Given the description of an element on the screen output the (x, y) to click on. 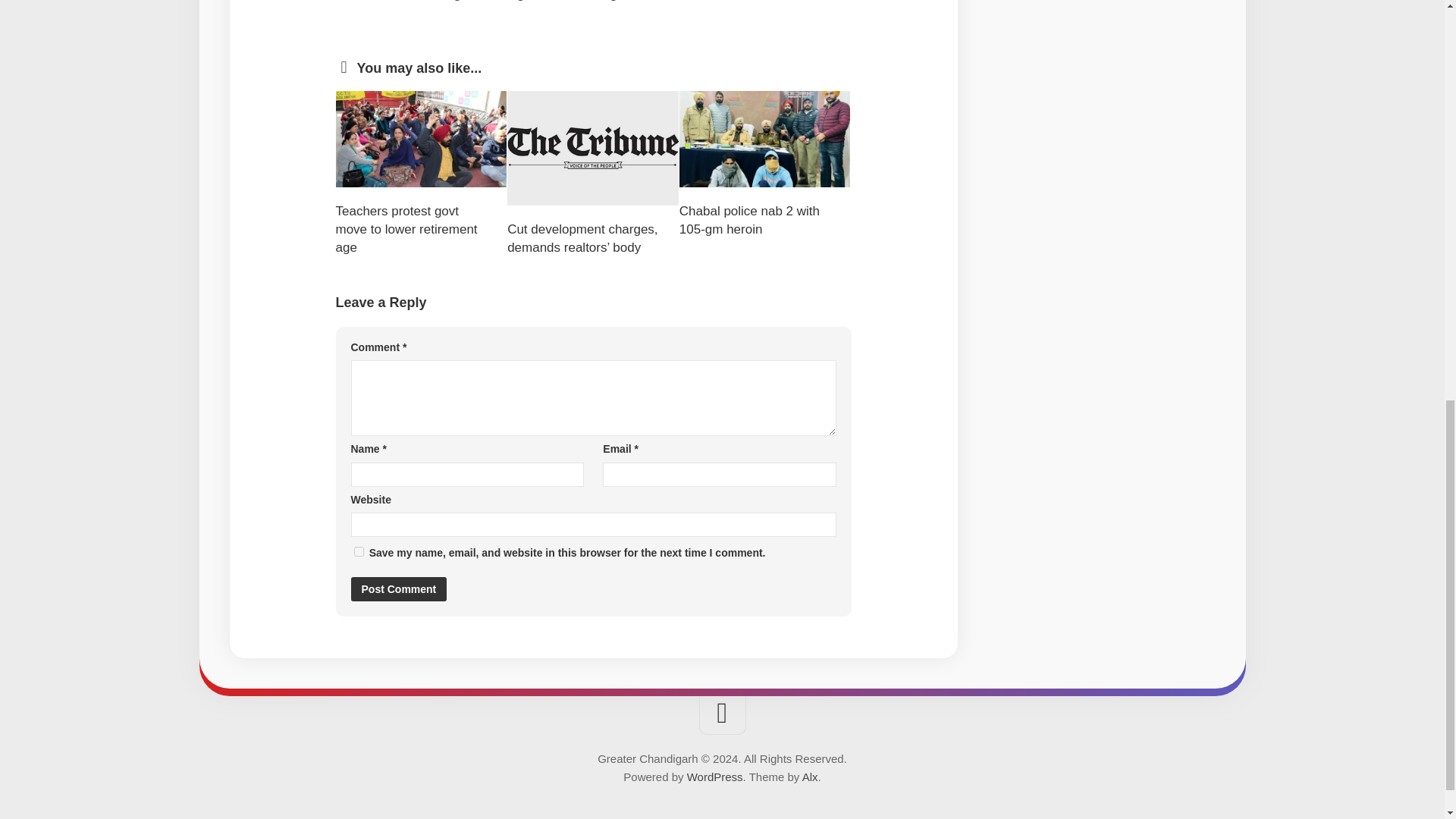
Alx (810, 776)
yes (357, 551)
Teachers protest govt move to lower retirement age (405, 228)
Post Comment (398, 589)
WordPress (714, 776)
Post Comment (398, 589)
Chabal police nab 2 with 105-gm heroin (749, 219)
